Given the description of an element on the screen output the (x, y) to click on. 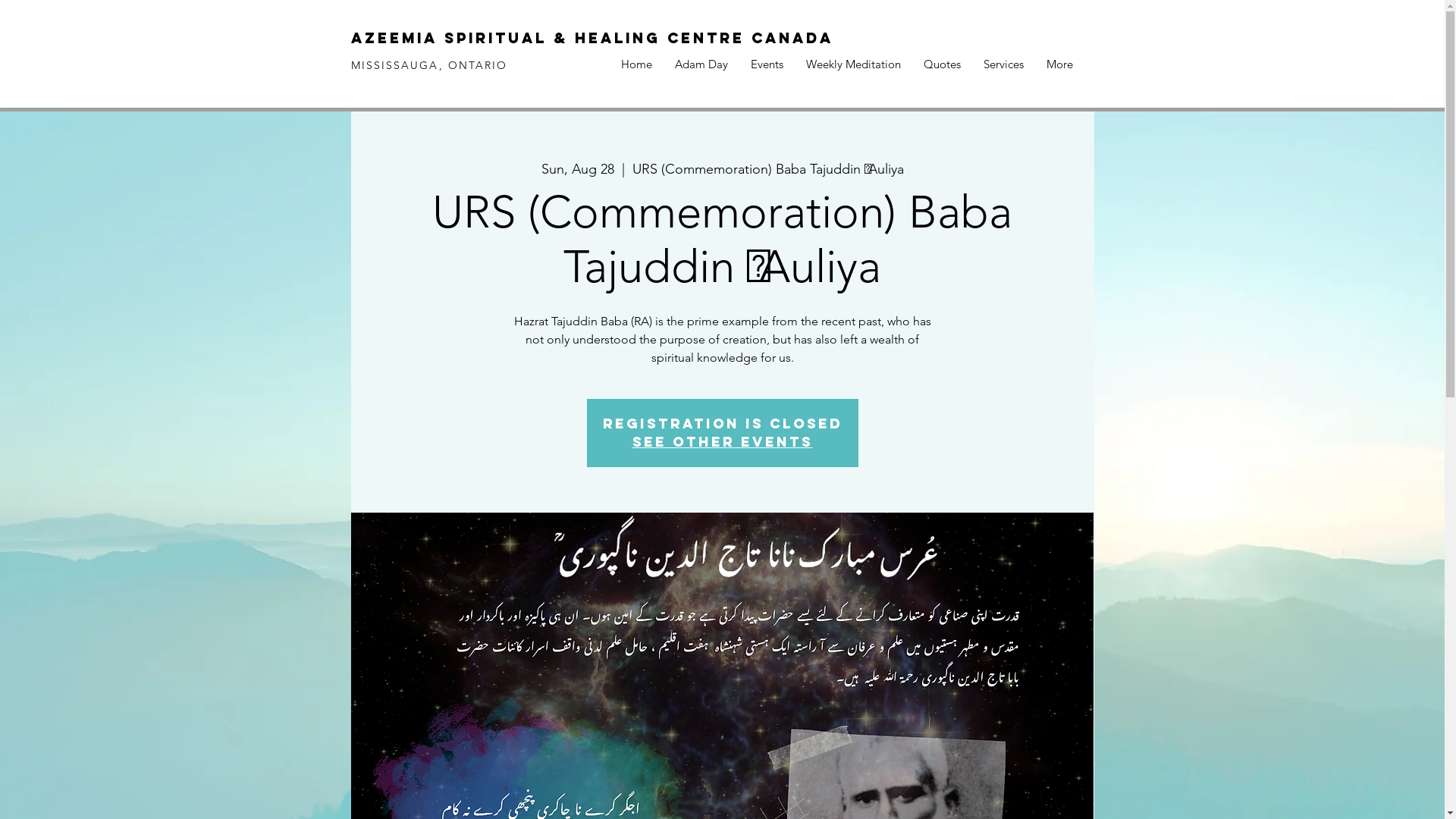
MISSISSAUGA, ONTARIO Element type: text (428, 65)
See other events Element type: text (722, 441)
Home Element type: text (636, 64)
Quotes Element type: text (941, 64)
aZEEMIa sPIRITUAL & hEALING CENTRE CANADA Element type: text (591, 37)
Weekly Meditation Element type: text (853, 64)
Services Element type: text (1003, 64)
